Given the description of an element on the screen output the (x, y) to click on. 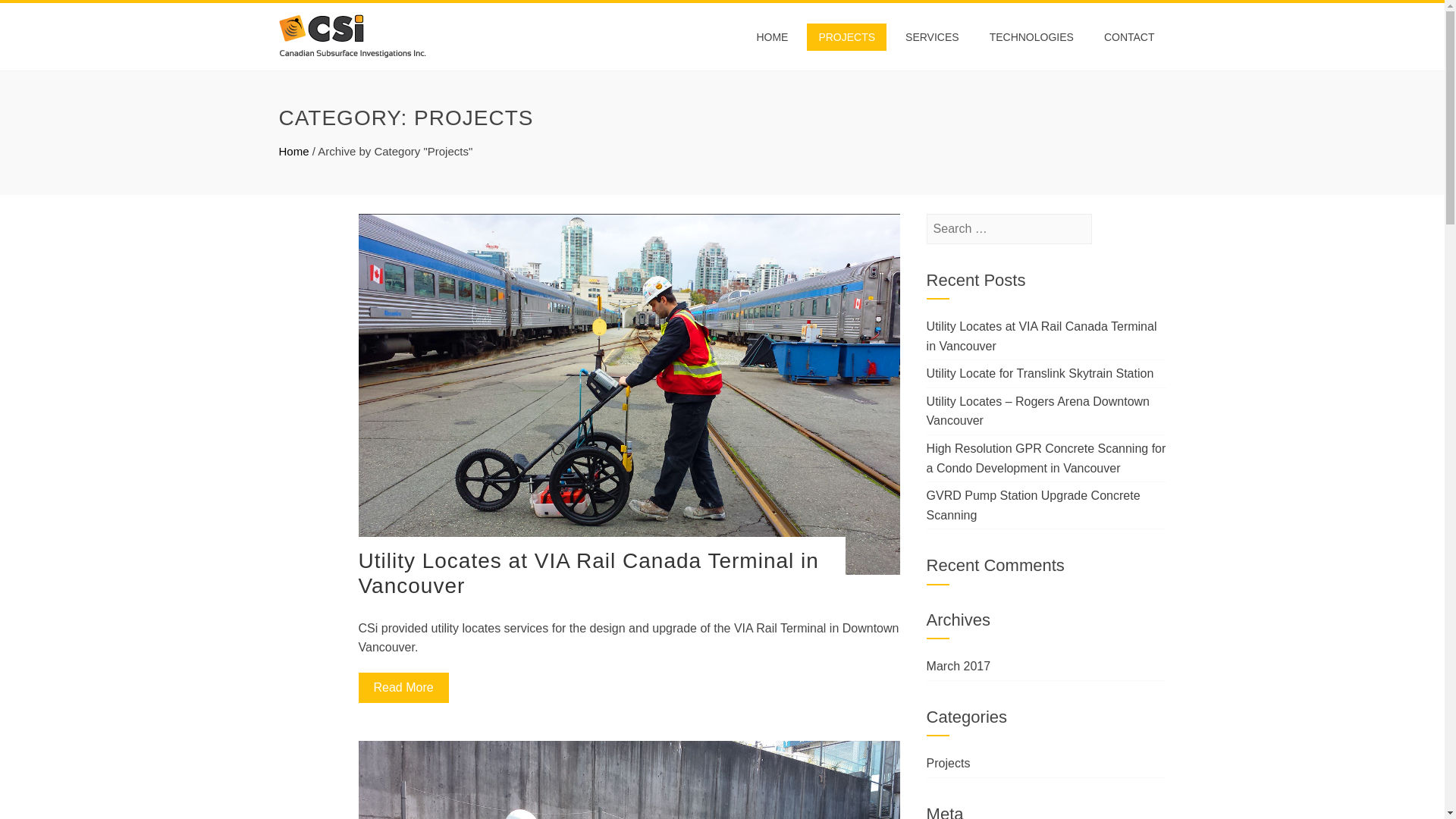
Utility Locate for Translink Skytrain Station (1040, 373)
PROJECTS (846, 36)
Search (34, 15)
Read More (403, 687)
SERVICES (932, 36)
Home (293, 151)
TECHNOLOGIES (1031, 36)
CONTACT (1129, 36)
HOME (771, 36)
Utility Locates at VIA Rail Canada Terminal in Vancouver (588, 573)
Utility Locates at VIA Rail Canada Terminal in Vancouver (1041, 336)
